Given the description of an element on the screen output the (x, y) to click on. 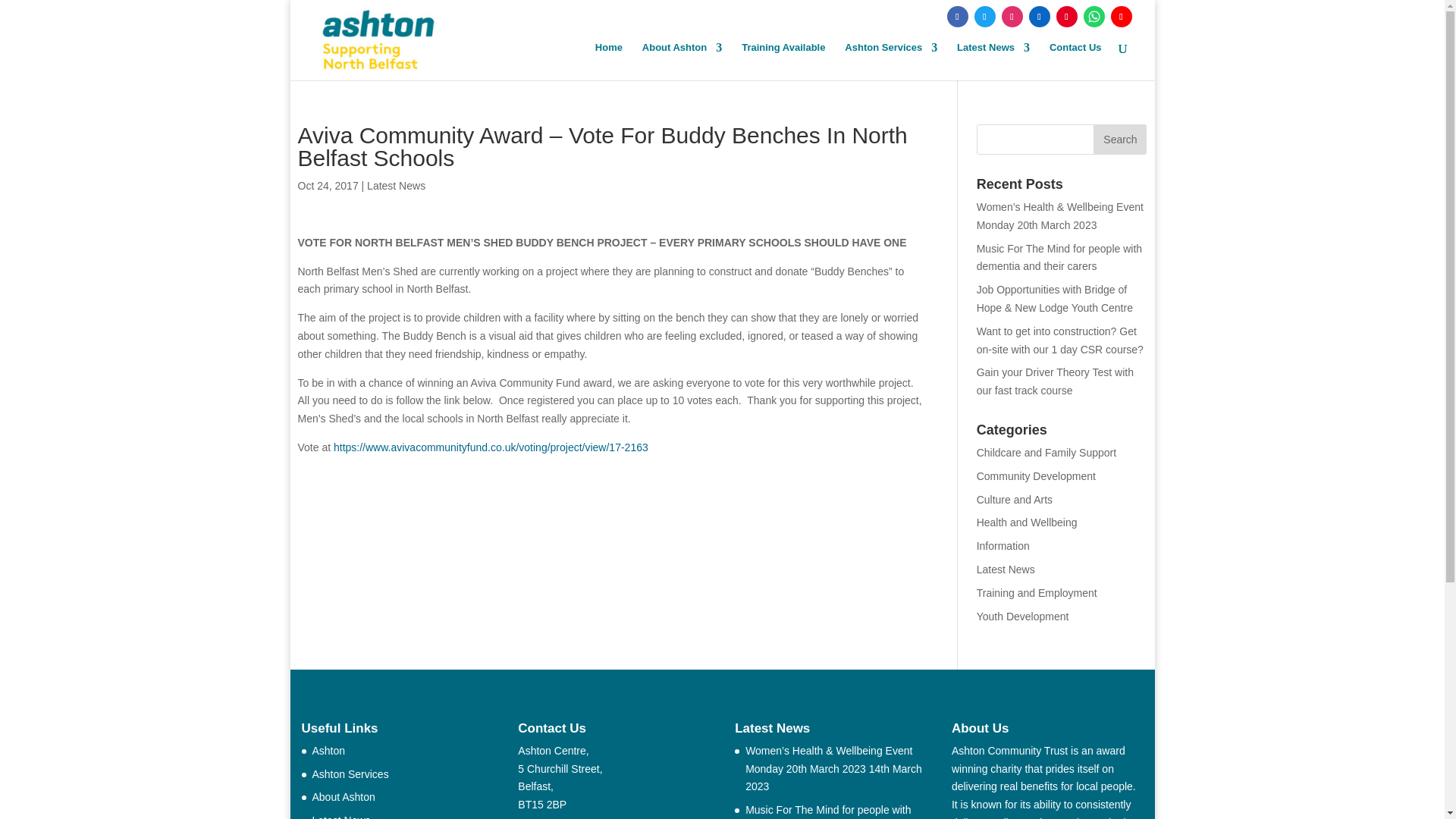
Latest News (992, 61)
Contact Us (1075, 61)
Training Available (783, 61)
About Ashton (682, 61)
Search (1120, 139)
Ashton Services (890, 61)
